Given the description of an element on the screen output the (x, y) to click on. 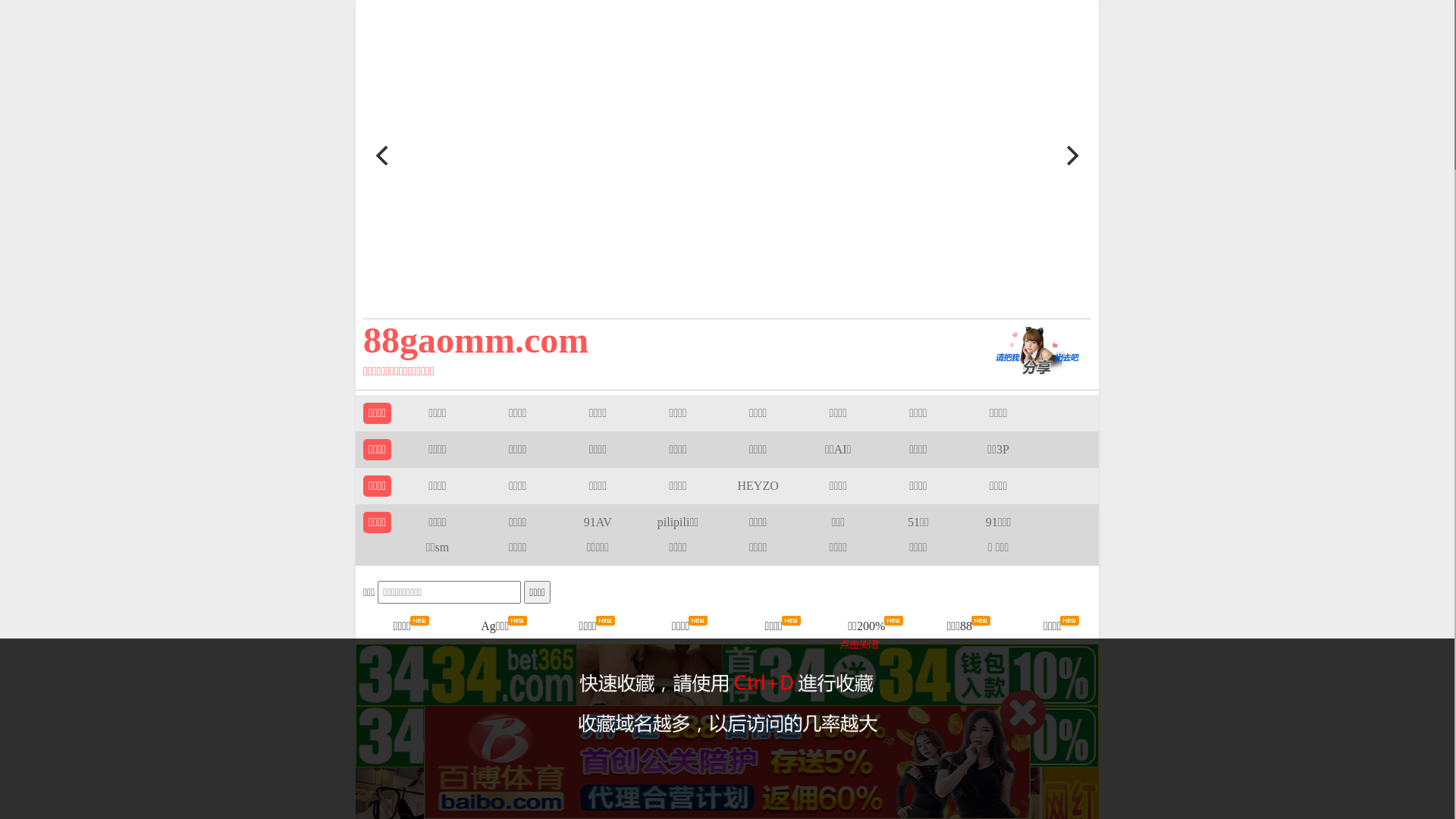
HEYZO Element type: text (757, 485)
88gaomm.com Element type: text (654, 339)
91AV Element type: text (597, 521)
